Given the description of an element on the screen output the (x, y) to click on. 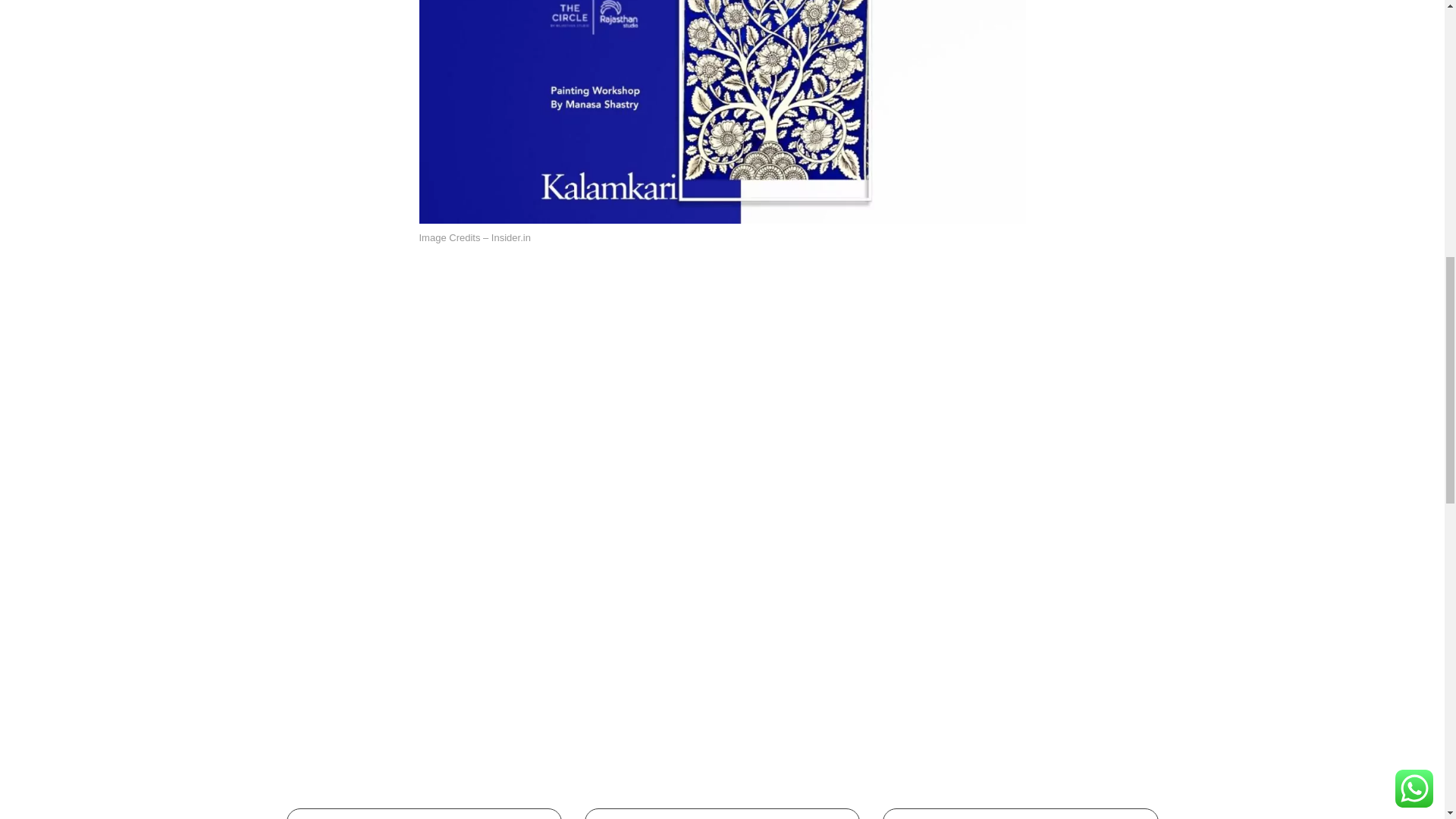
The Rooftop Community (752, 631)
Rooftop (984, 707)
art (445, 631)
